Given the description of an element on the screen output the (x, y) to click on. 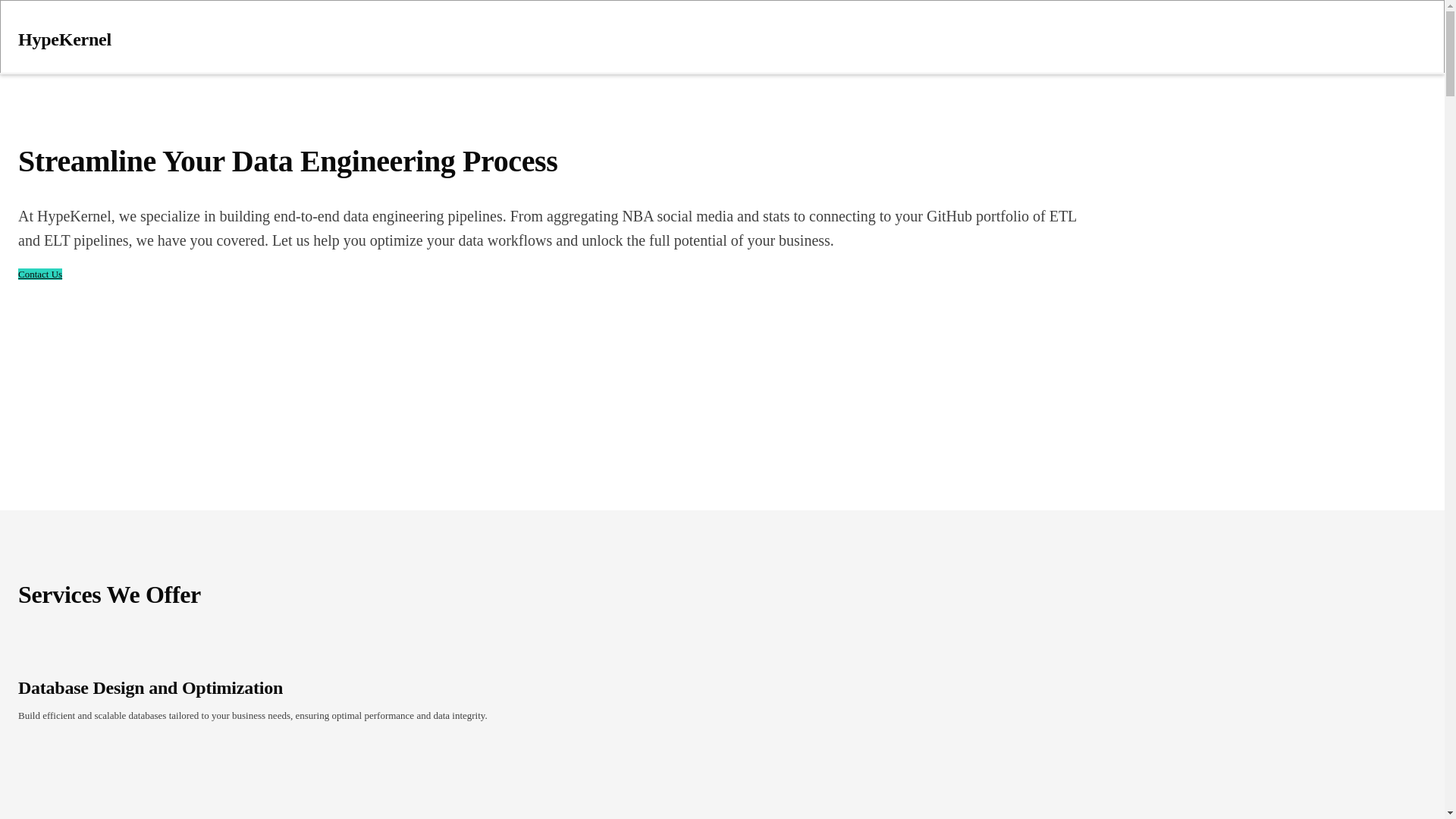
HypeKernel (453, 30)
Contact Us (39, 274)
